Given the description of an element on the screen output the (x, y) to click on. 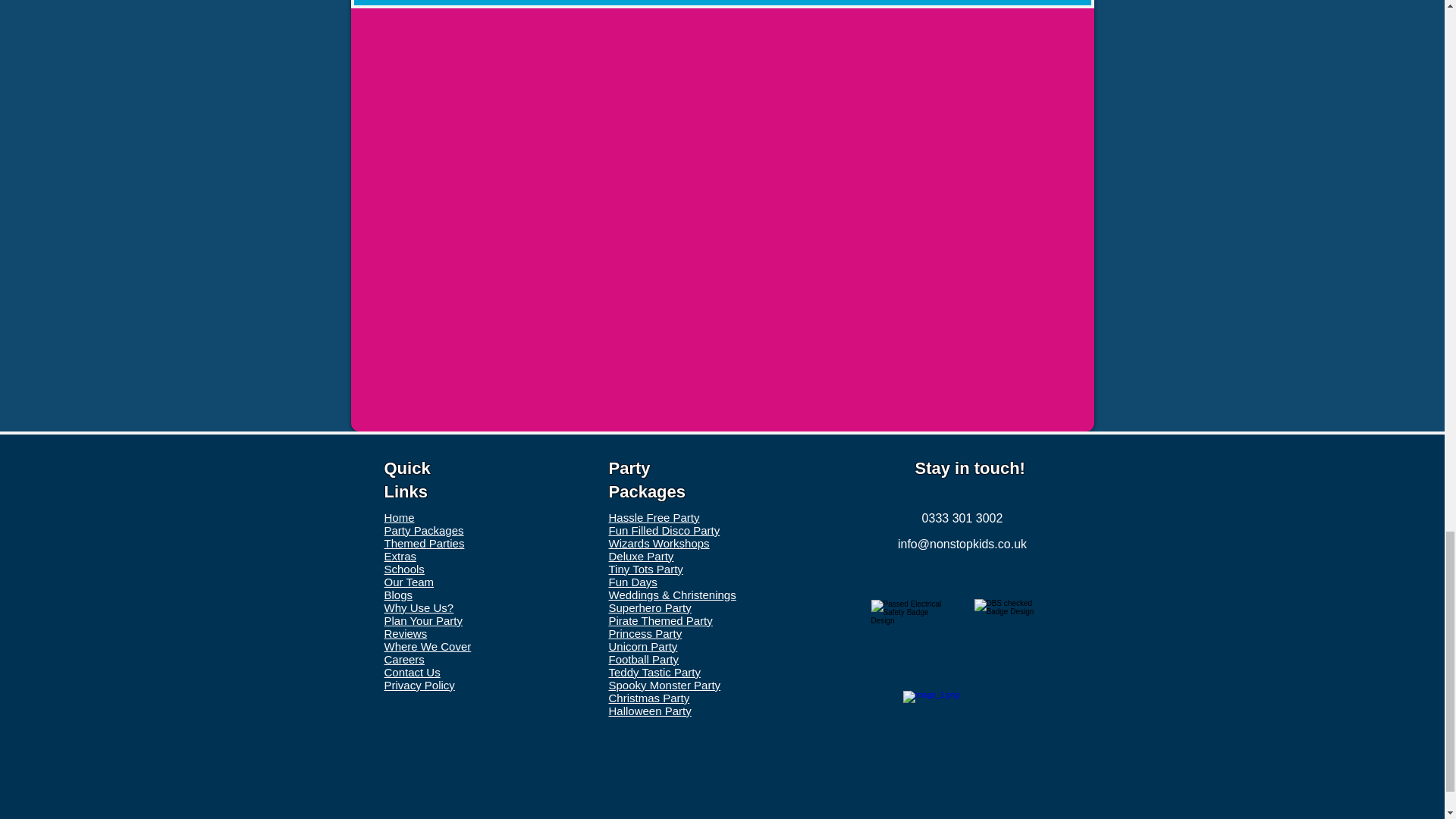
Careers (403, 658)
Why Use Us? (418, 607)
Reviews (405, 633)
Our Team (408, 581)
Hassle Free Party (653, 517)
Where We Cover (427, 645)
Plan Your Party (422, 620)
Contact Us (411, 671)
Themed Parties (424, 543)
Privacy Policy (419, 684)
